Given the description of an element on the screen output the (x, y) to click on. 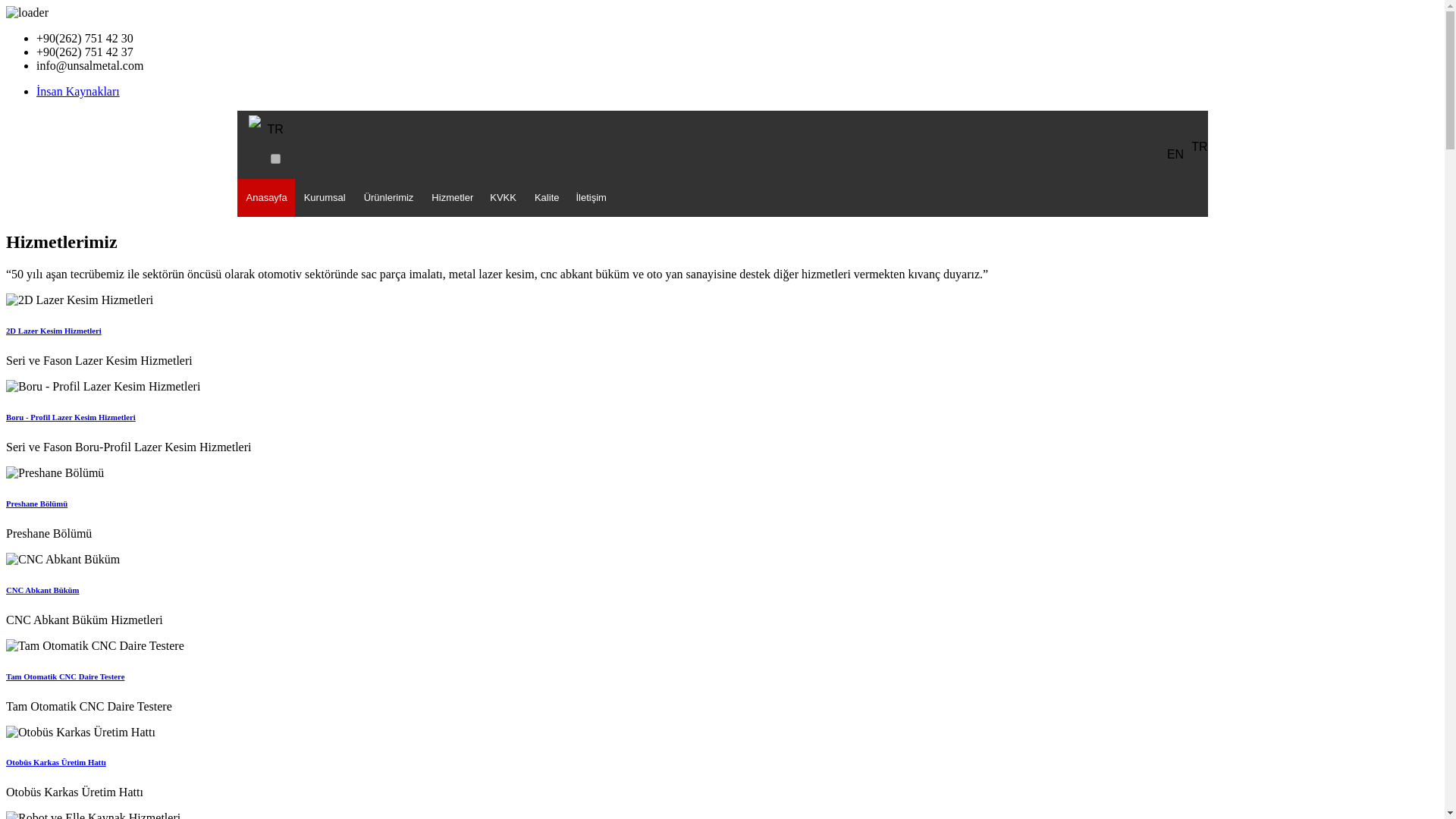
Kurumsal (325, 198)
on (274, 158)
Hizmetler (451, 198)
KVKK (502, 198)
Anasayfa (264, 198)
Kalite (547, 198)
TR (274, 128)
